Given the description of an element on the screen output the (x, y) to click on. 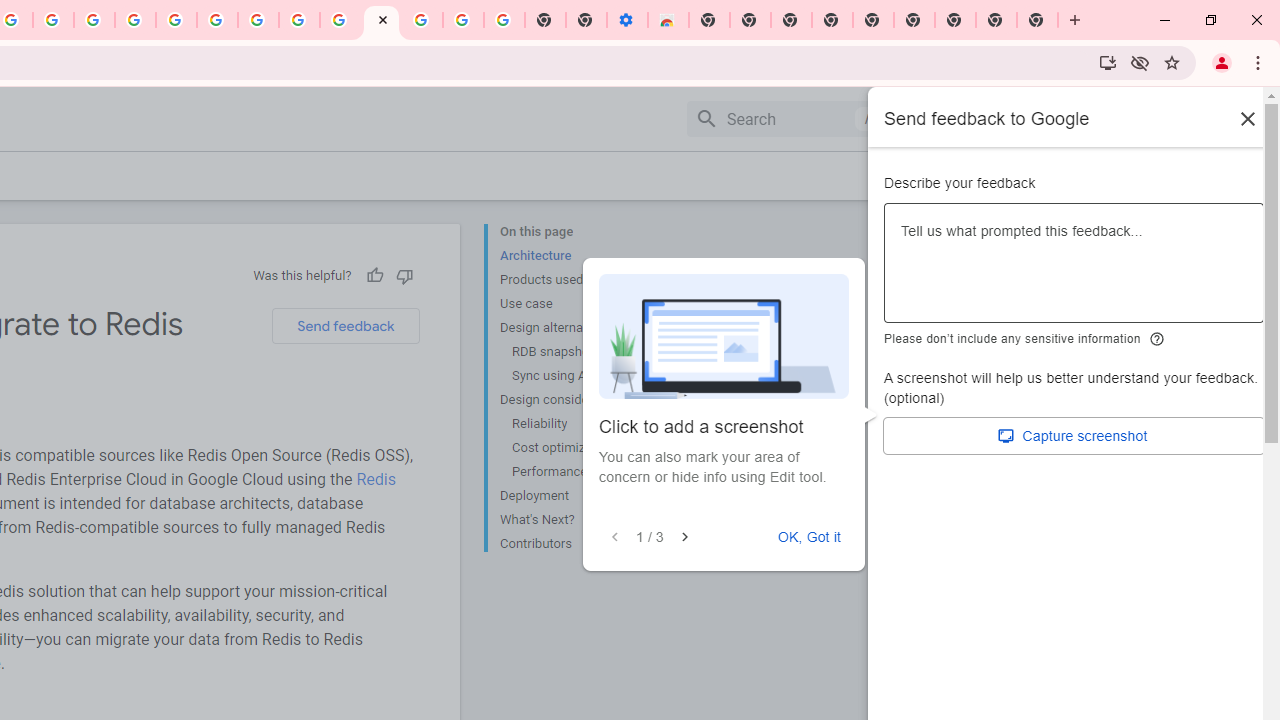
What's Next? (580, 520)
Sync using Active-Passive (585, 376)
Design considerations (580, 399)
Support (1000, 119)
New Tab (1037, 20)
Performance (585, 471)
Design alternatives (580, 327)
Create your Google Account (53, 20)
Describe your feedback (1074, 271)
Browse the Google Chrome Community - Google Chrome Community (340, 20)
